Given the description of an element on the screen output the (x, y) to click on. 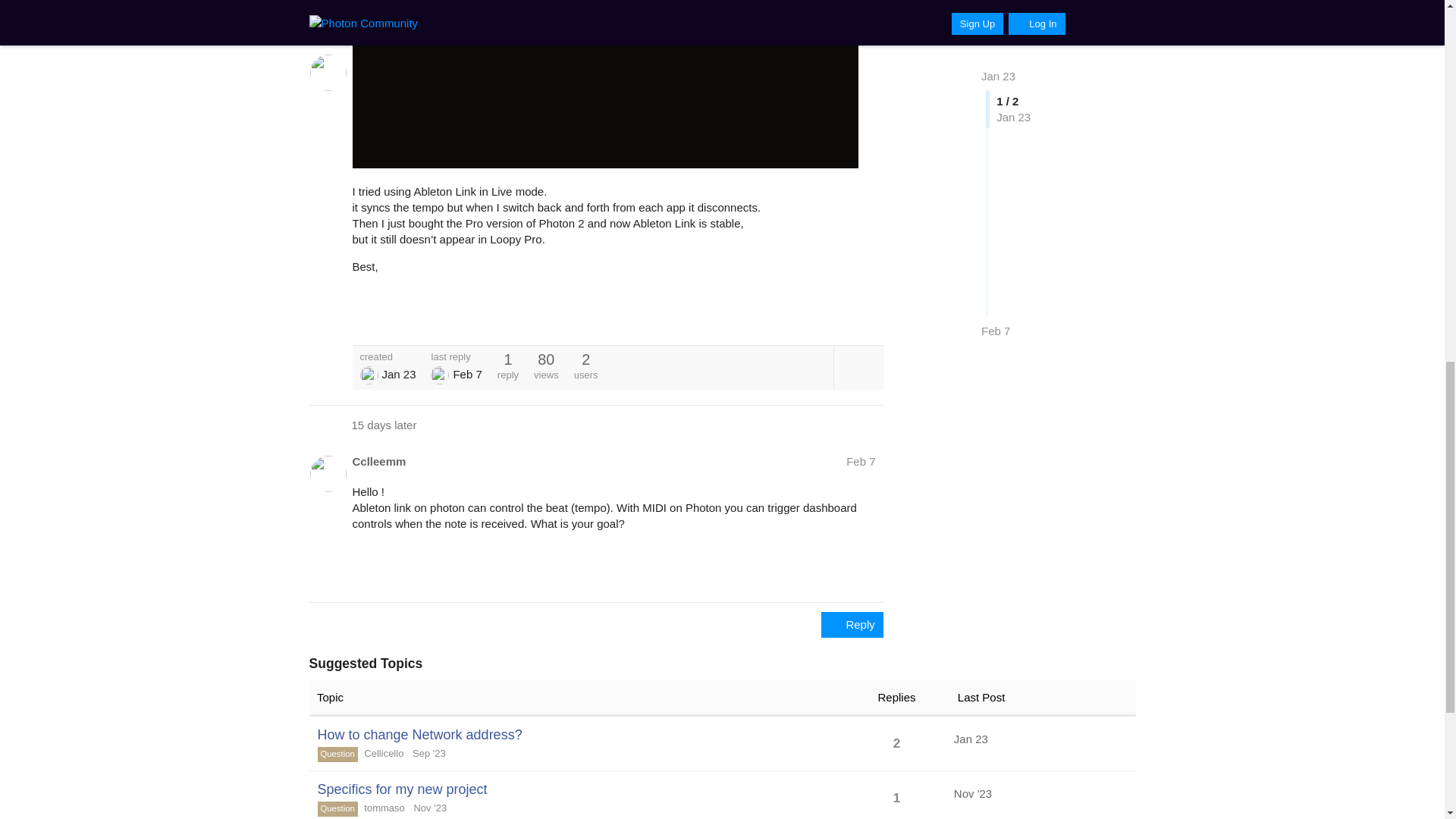
Specifics for my new project (401, 789)
Cellicello (383, 753)
Feb 7, 2024 8:54 pm (466, 373)
Jan 23, 2024 11:31 am (397, 373)
How to change Network address? (419, 734)
like this post (836, 316)
Question (336, 754)
Reply (852, 624)
Cclleemm (379, 461)
share a link to this post (869, 316)
Feb 7 (860, 461)
Robin (368, 375)
Sep '23 (425, 753)
Jan 23 (970, 738)
last reply (455, 356)
